Given the description of an element on the screen output the (x, y) to click on. 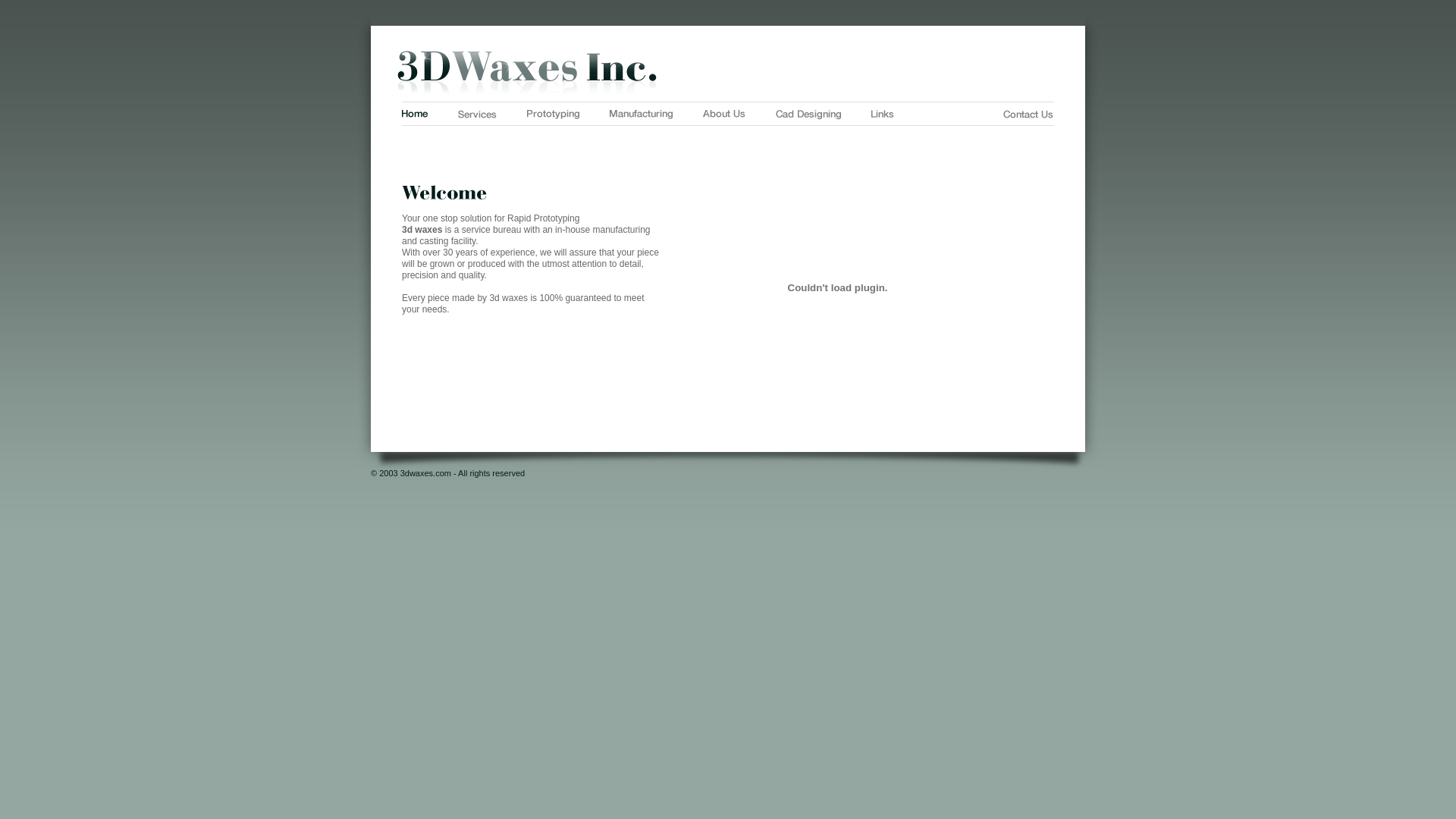
Prototyping Element type: hover (553, 114)
Links Element type: hover (882, 113)
About Us Element type: hover (723, 113)
Contact Us Element type: hover (1028, 113)
3dwasex Element type: hover (727, 72)
Services Element type: hover (477, 113)
Cad Designing Element type: hover (807, 114)
Manufacturing Element type: hover (640, 114)
